Given the description of an element on the screen output the (x, y) to click on. 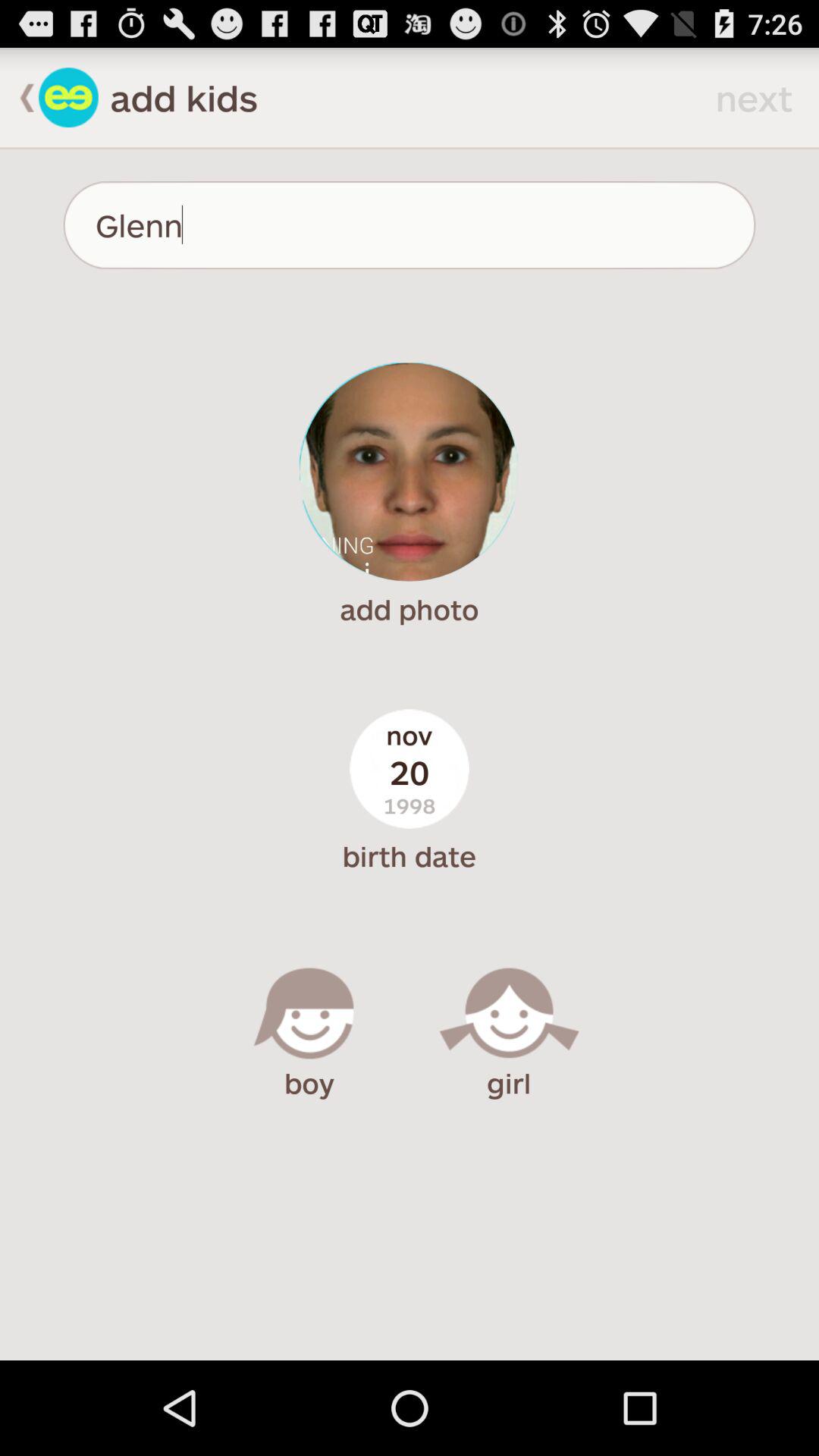
add photo (408, 471)
